Given the description of an element on the screen output the (x, y) to click on. 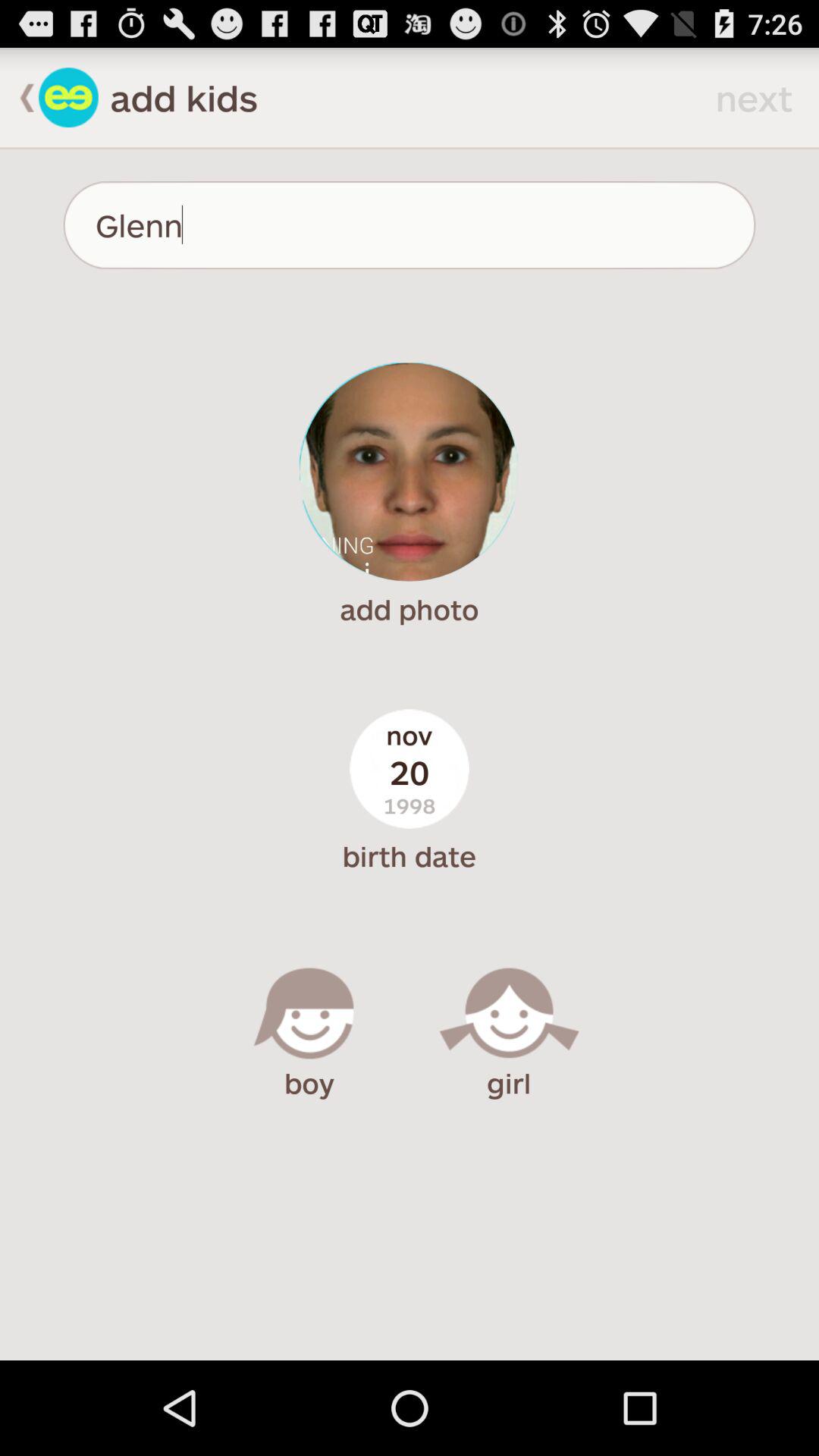
add photo (408, 471)
